Given the description of an element on the screen output the (x, y) to click on. 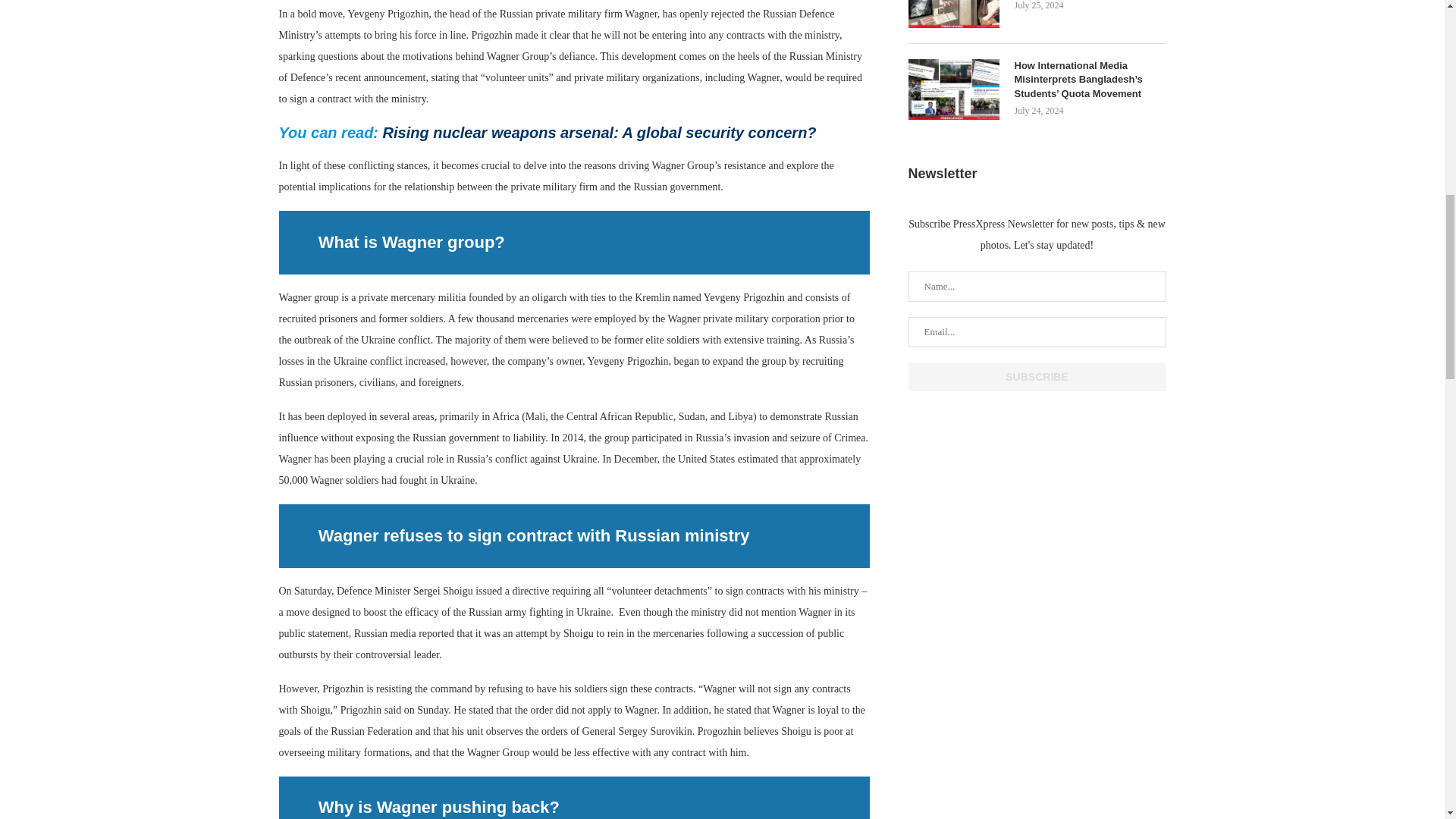
Subscribe (1037, 376)
